Given the description of an element on the screen output the (x, y) to click on. 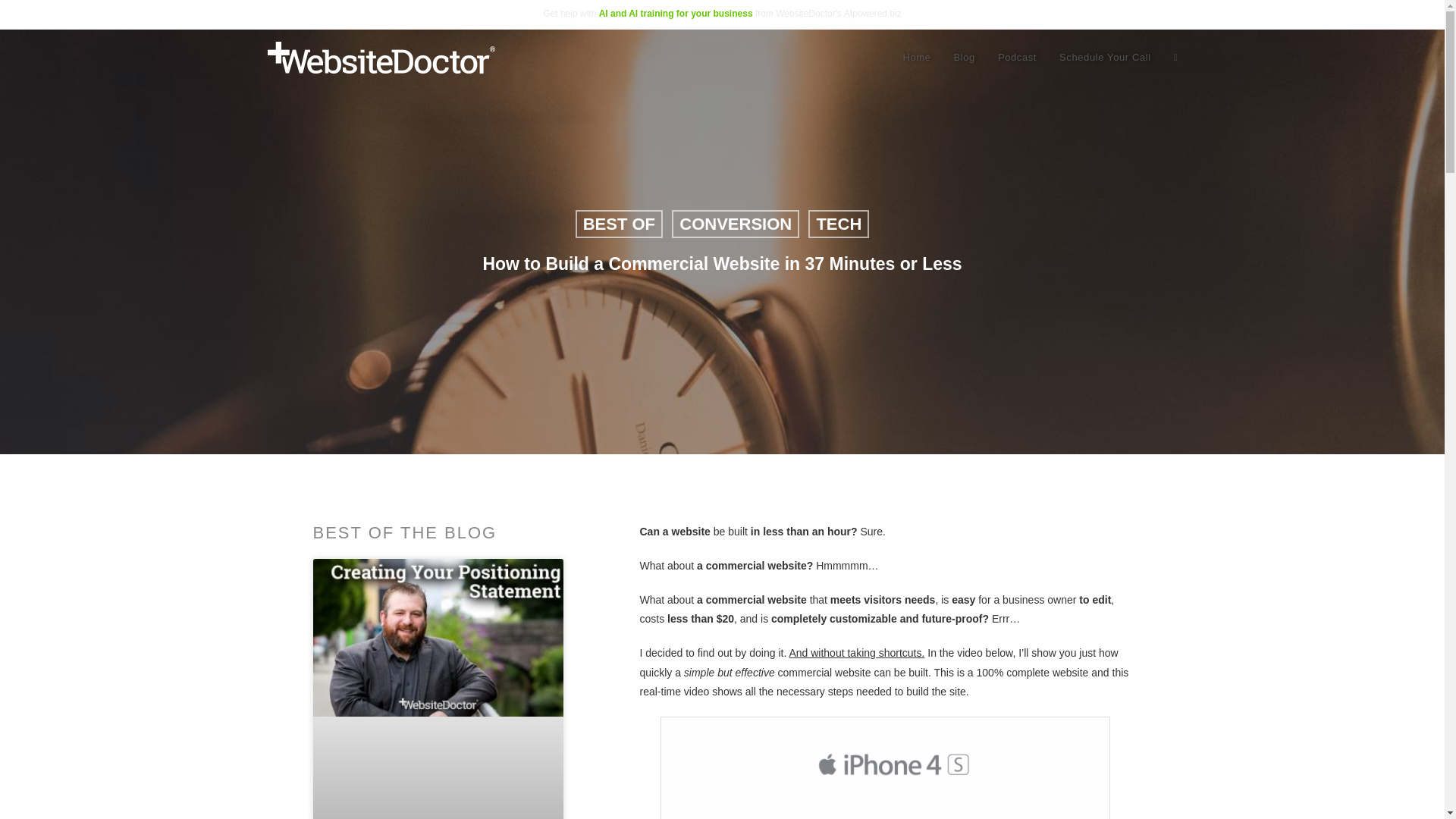
Podcast (1017, 57)
Schedule Your Call (1104, 57)
TECH (838, 223)
Home (916, 57)
AI and AI training for your business (675, 13)
BEST OF (618, 223)
CONVERSION (735, 223)
